Given the description of an element on the screen output the (x, y) to click on. 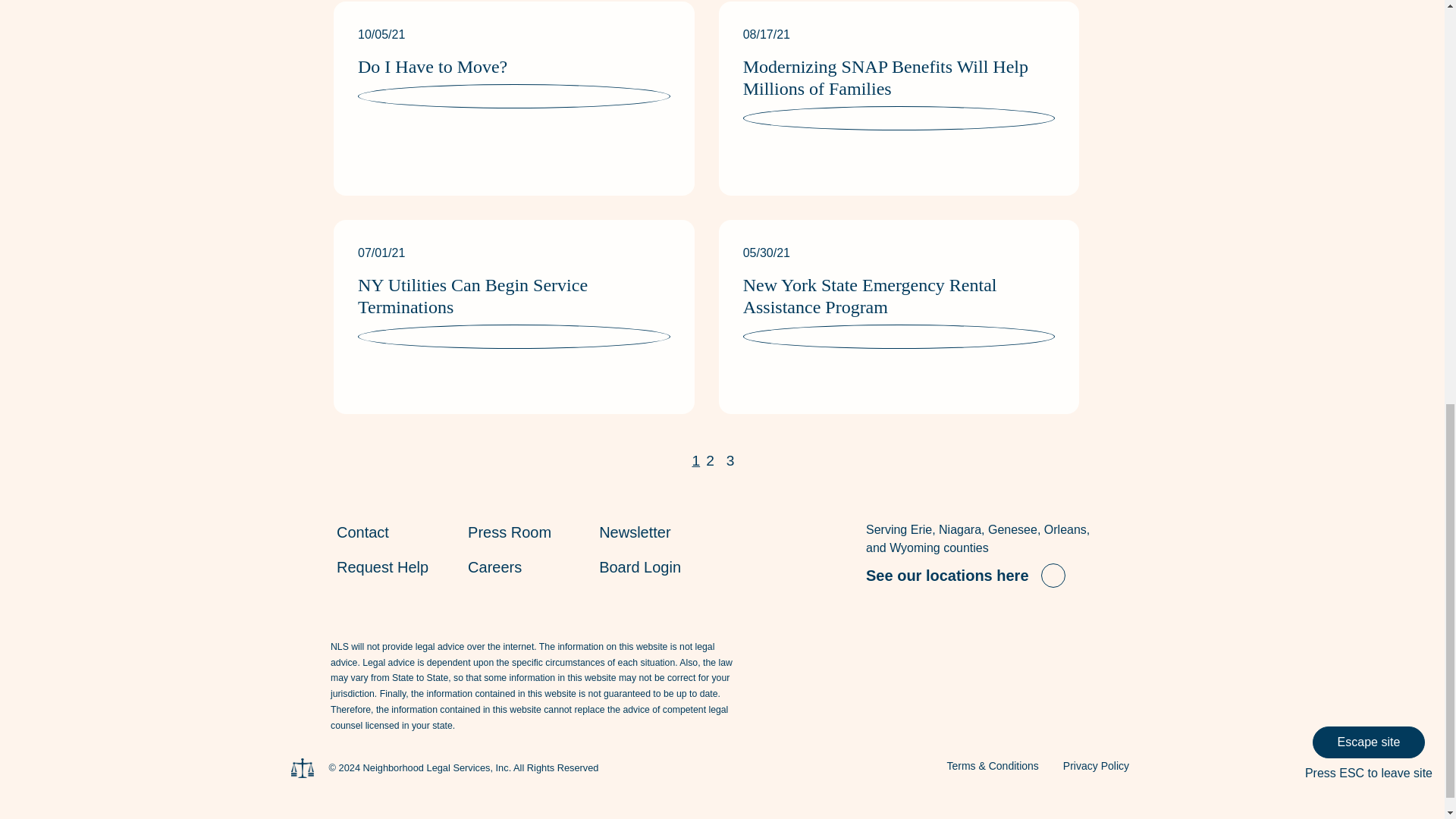
3 (730, 461)
2 (710, 461)
